Given the description of an element on the screen output the (x, y) to click on. 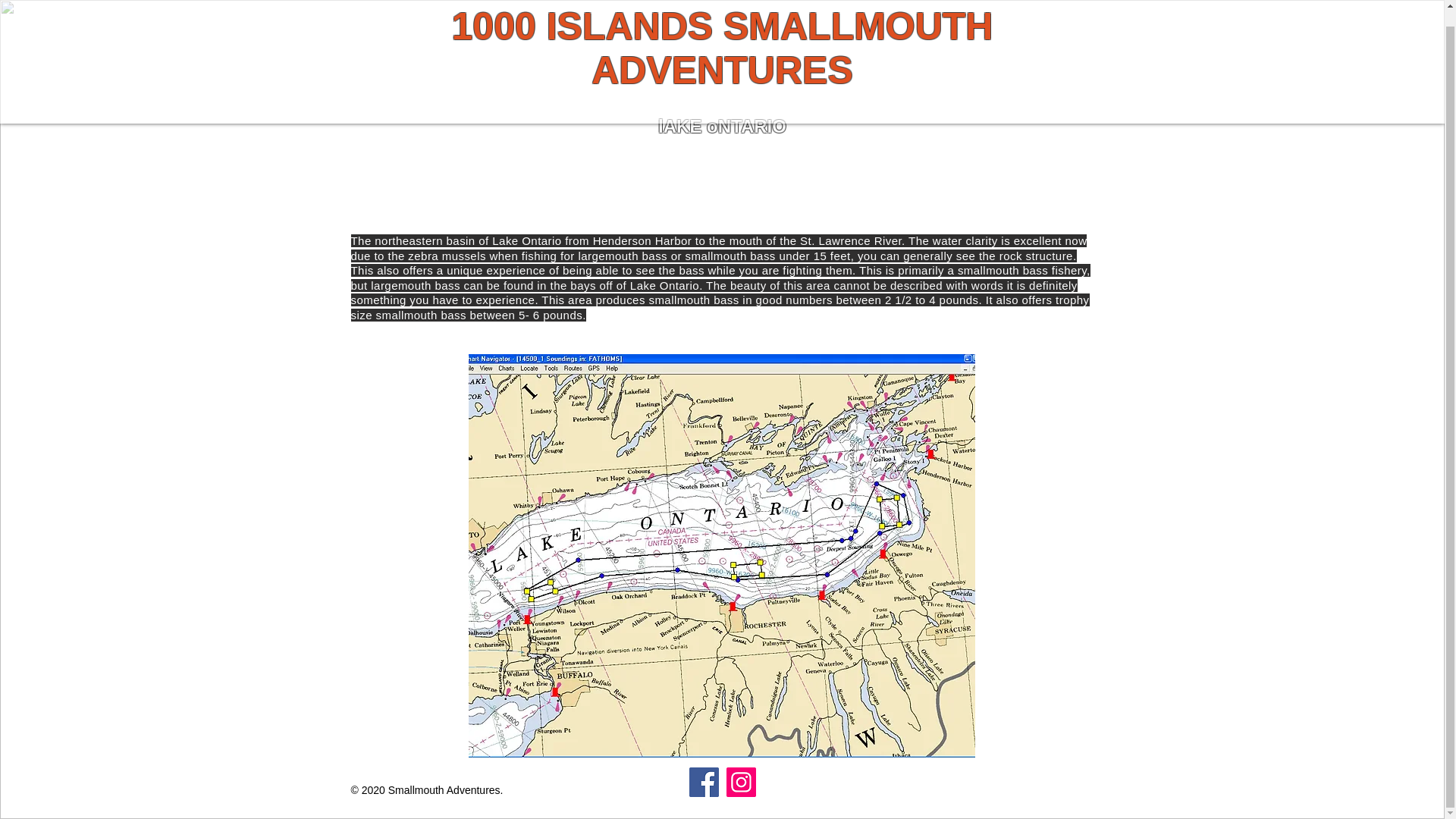
1000 ISLANDS SMALLMOUTH ADVENTURES (721, 38)
